Given the description of an element on the screen output the (x, y) to click on. 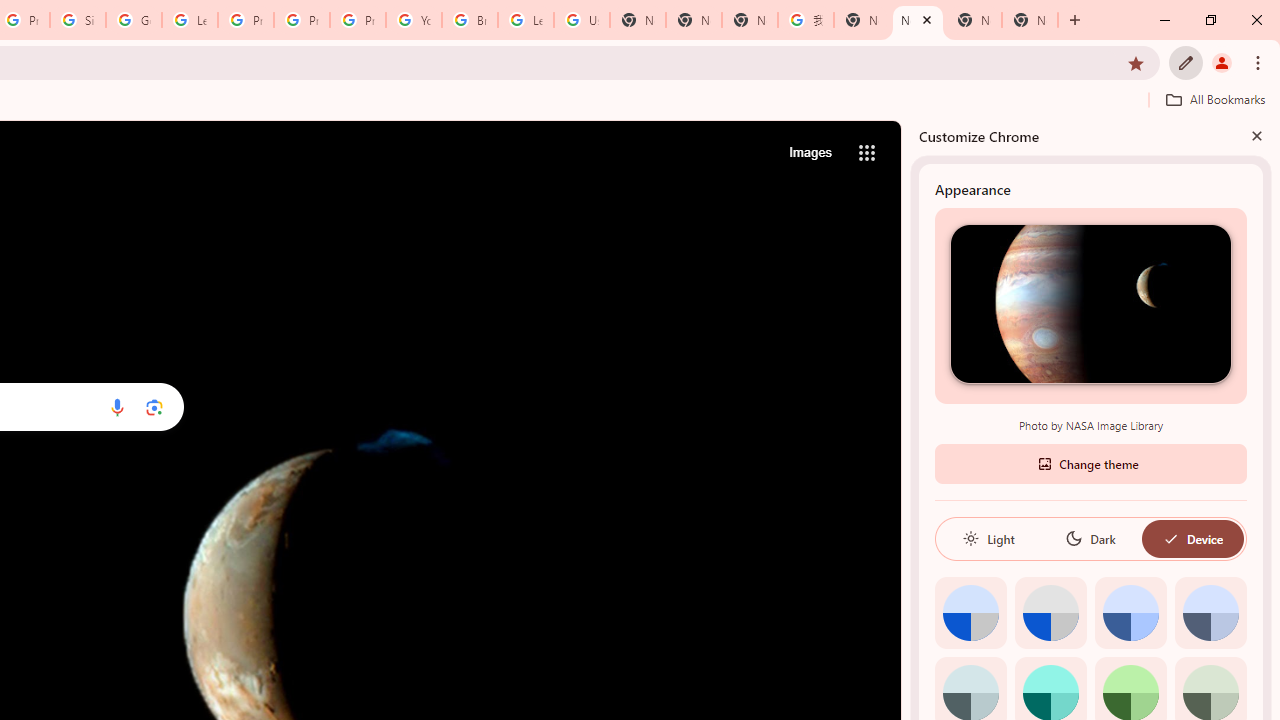
Cool grey (1210, 612)
New Tab (693, 20)
AutomationID: baseSvg (1170, 538)
Dark (1090, 538)
Search for Images  (810, 152)
Default color (970, 612)
New Tab (1030, 20)
All Bookmarks (1215, 99)
Customize Chrome (1185, 62)
